Given the description of an element on the screen output the (x, y) to click on. 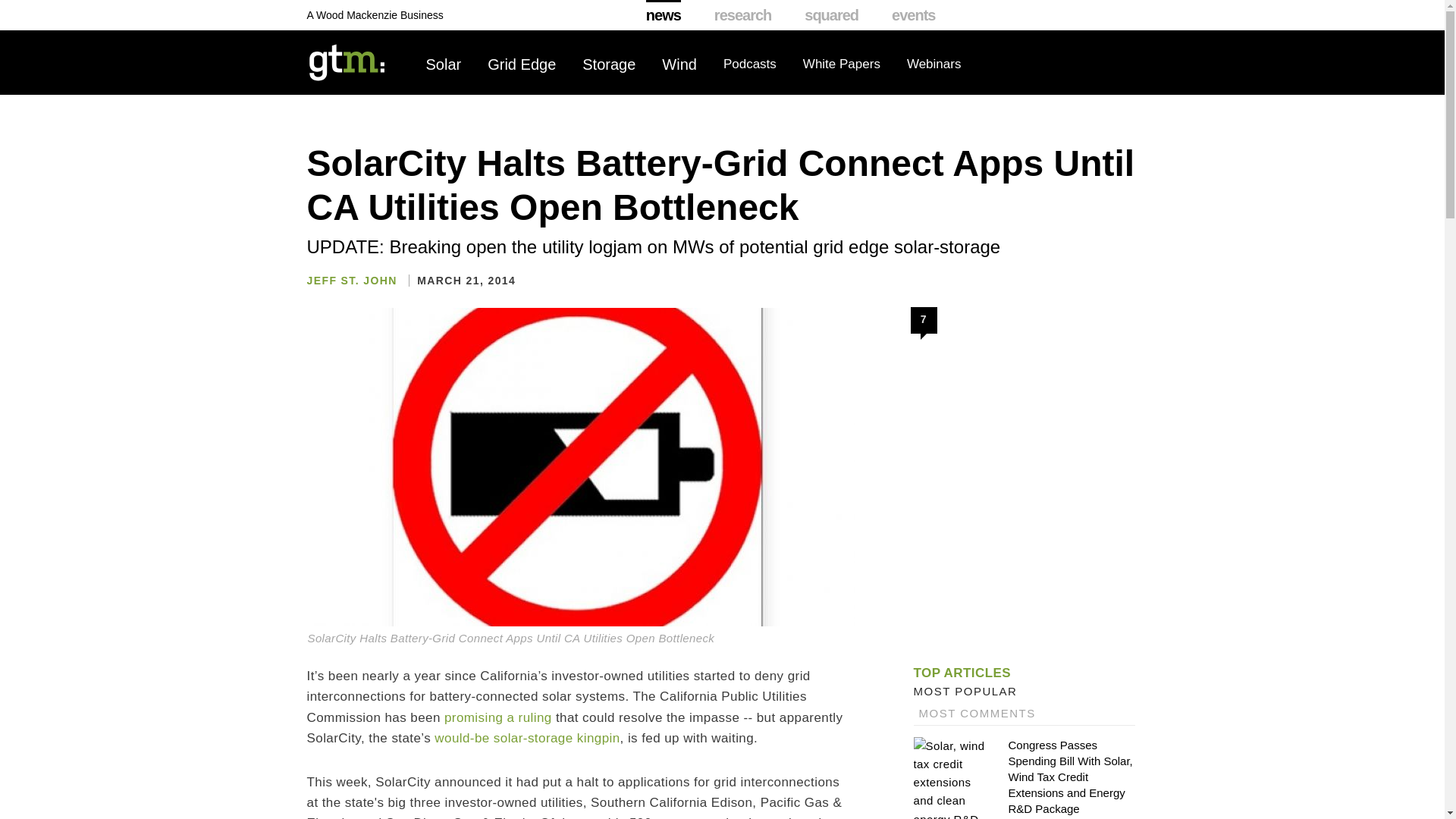
news (663, 15)
Podcasts (749, 64)
Wind (679, 64)
Grid Edge (521, 64)
events (912, 15)
research (742, 15)
squared (832, 15)
Solar (443, 64)
Storage (608, 64)
White Papers (841, 64)
